Given the description of an element on the screen output the (x, y) to click on. 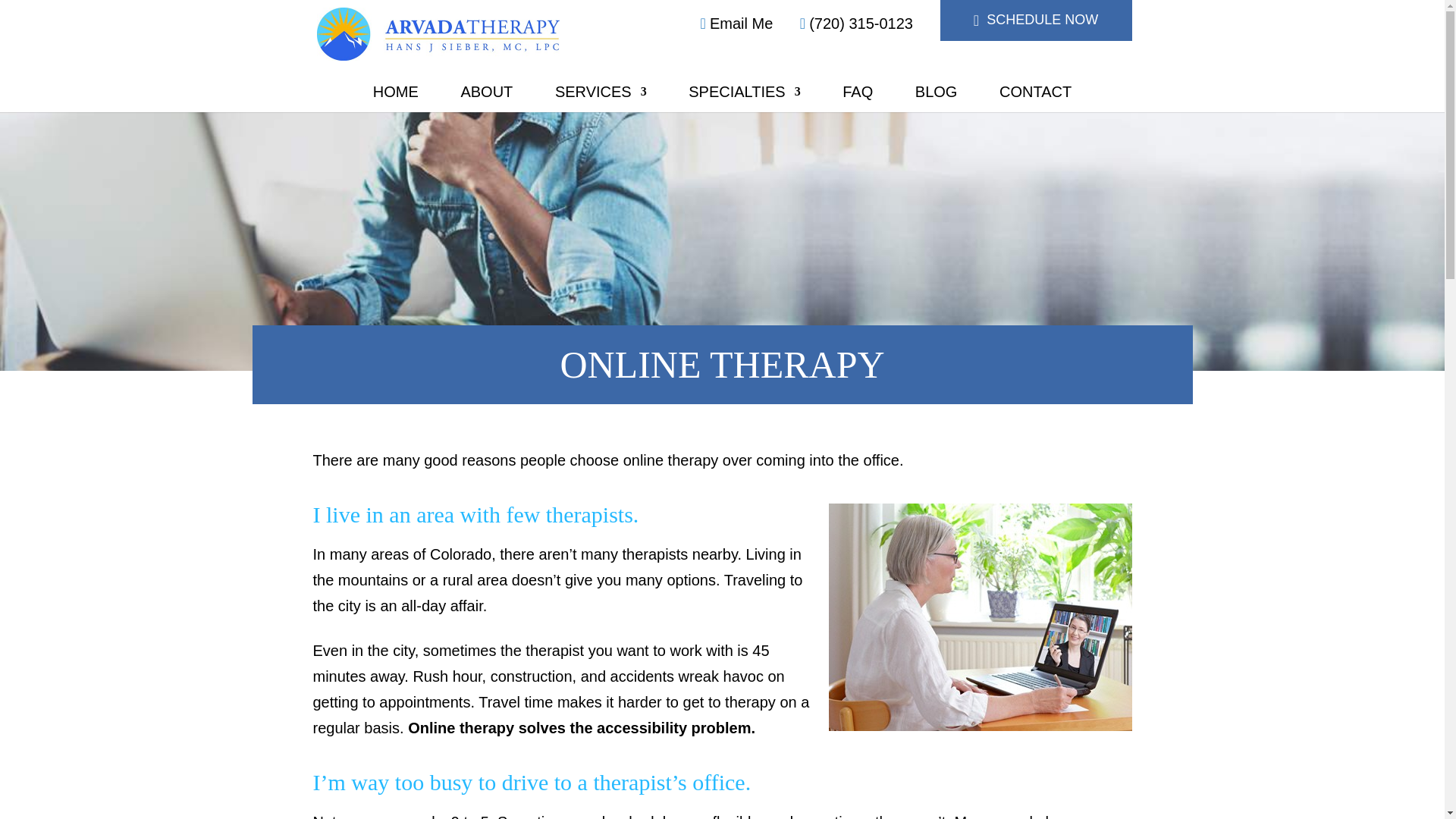
ABOUT (486, 95)
SCHEDULE NOW (1036, 20)
SPECIALTIES (743, 95)
HOME (395, 95)
FAQ (857, 95)
Email Me (736, 23)
SERVICES (600, 95)
BLOG (936, 95)
CONTACT (1034, 95)
